Given the description of an element on the screen output the (x, y) to click on. 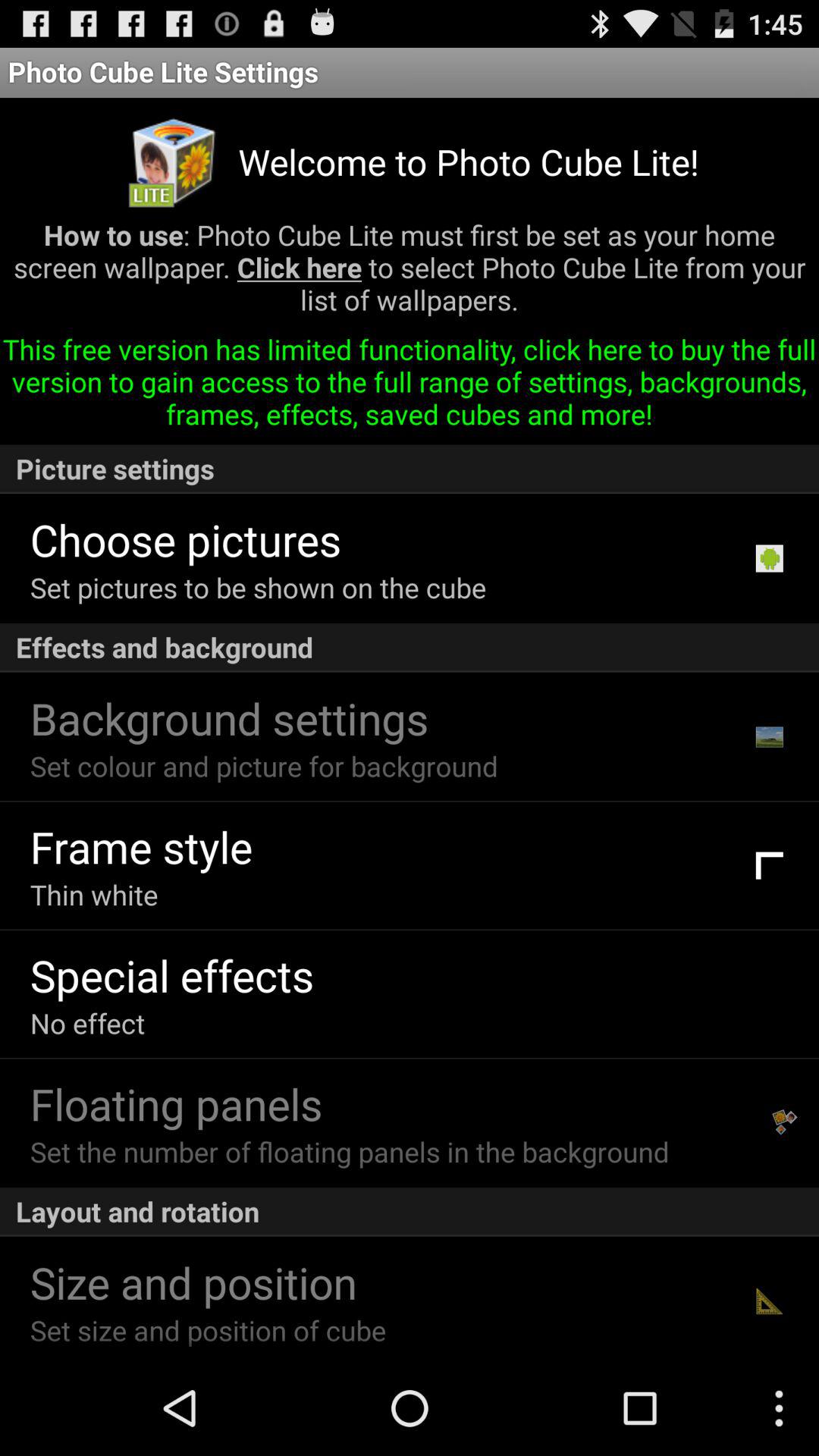
select the item above set colour and item (229, 717)
